Given the description of an element on the screen output the (x, y) to click on. 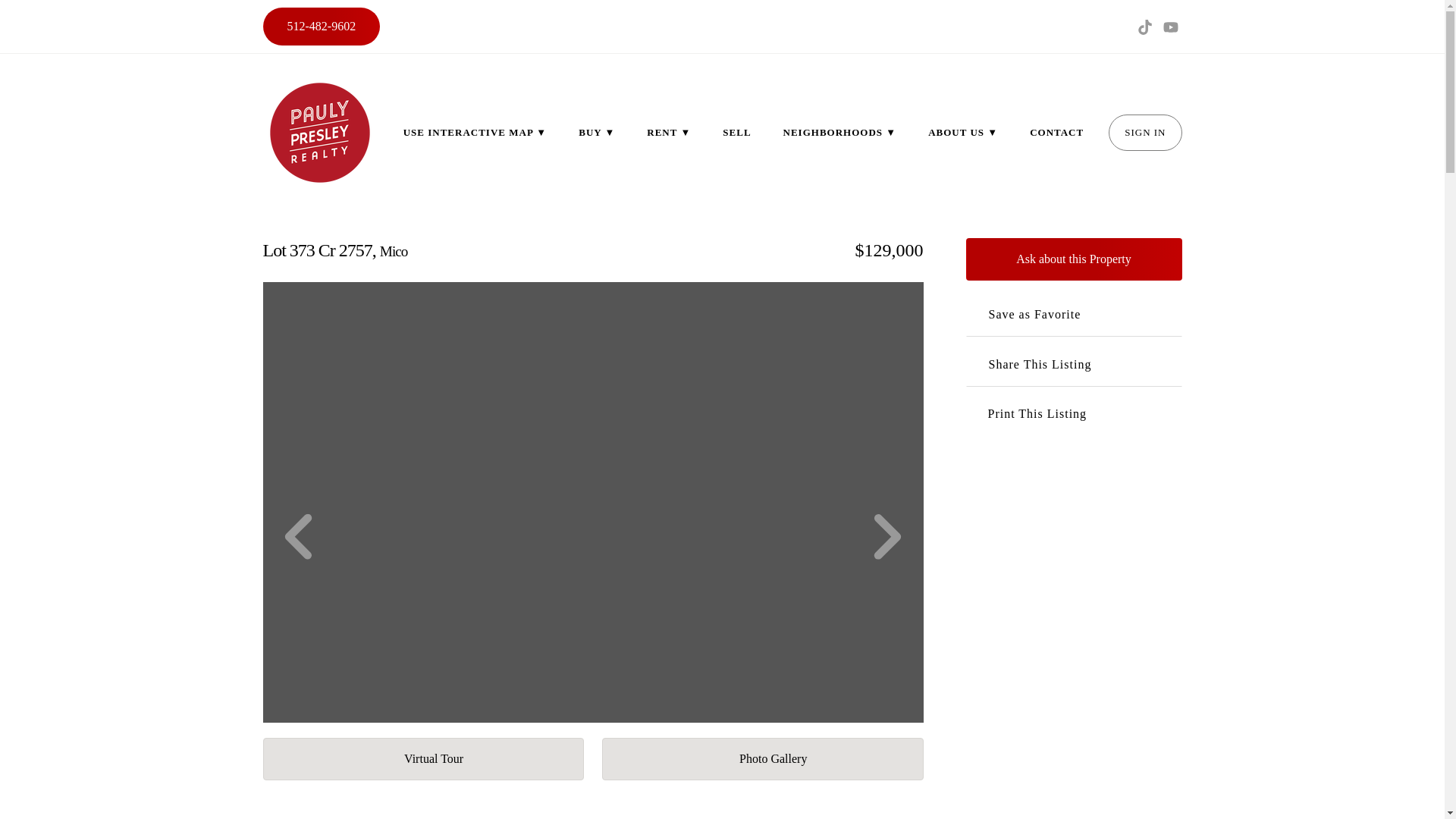
512-482-9602 (321, 26)
SELL (736, 132)
Site Logo (318, 132)
